Given the description of an element on the screen output the (x, y) to click on. 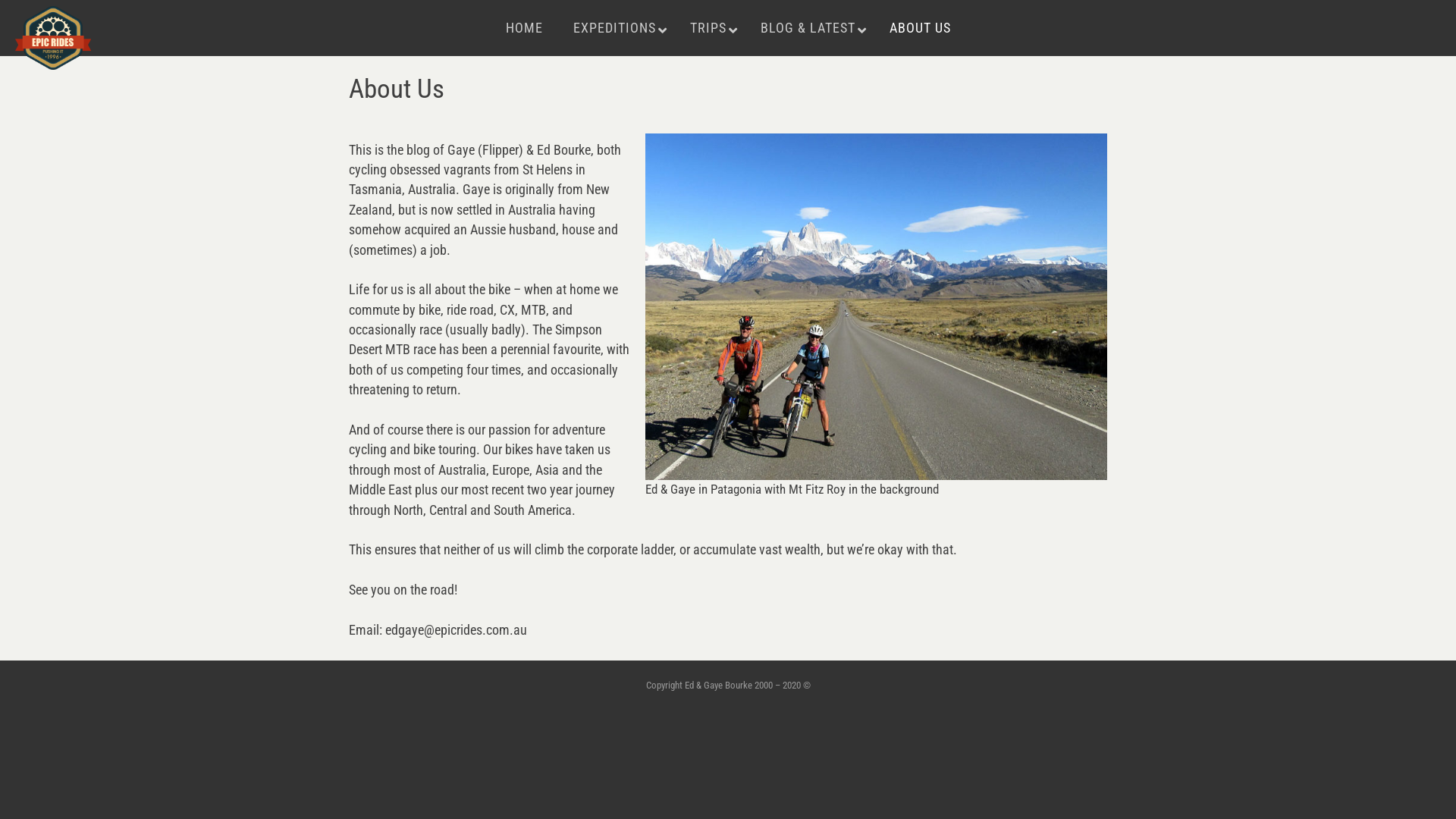
ABOUT US Element type: text (919, 27)
HOME Element type: text (523, 27)
BLOG & LATEST Element type: text (808, 27)
TRIPS Element type: text (709, 27)
EXPEDITIONS Element type: text (616, 27)
